Given the description of an element on the screen output the (x, y) to click on. 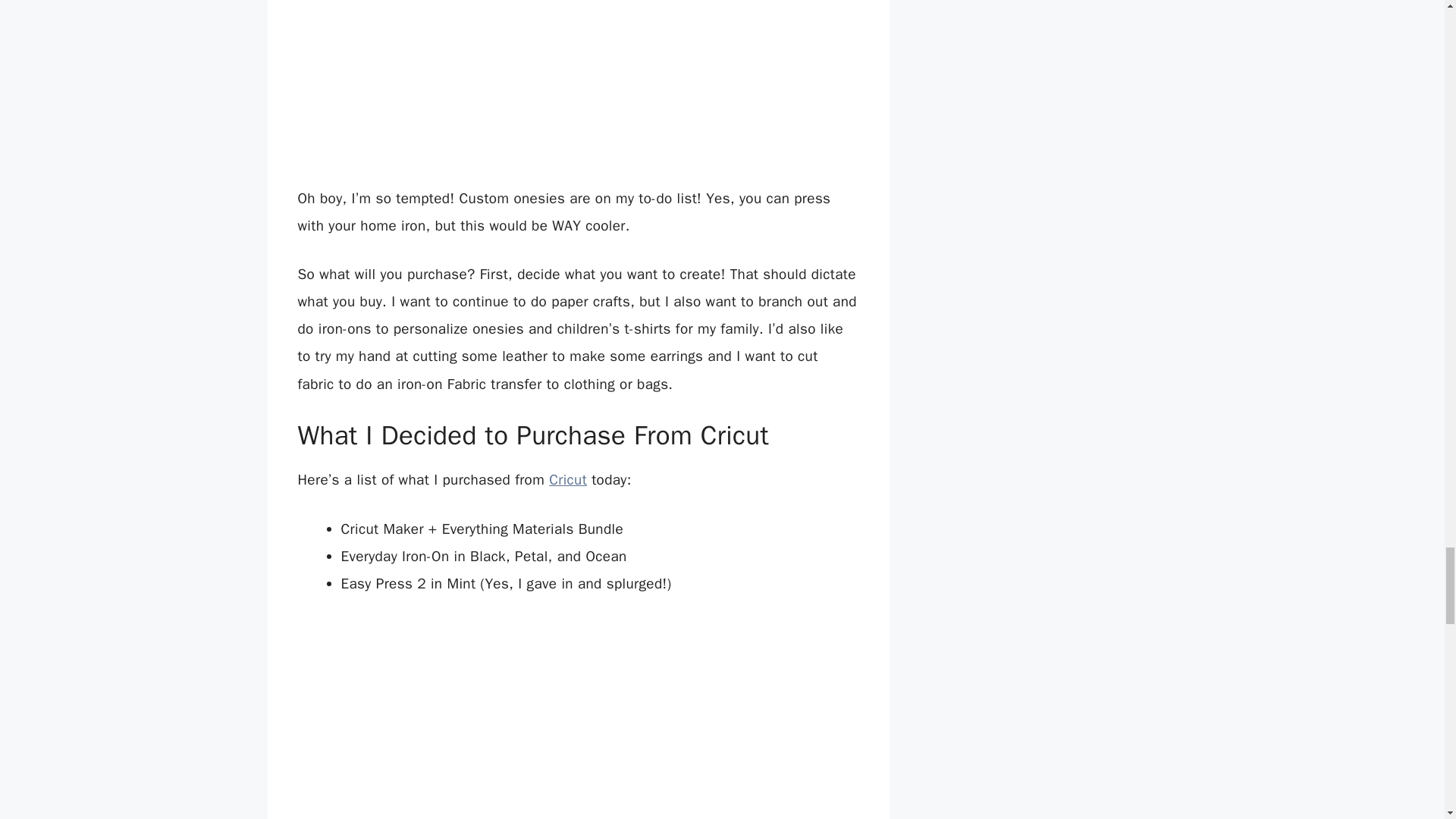
Cricut (567, 479)
